Given the description of an element on the screen output the (x, y) to click on. 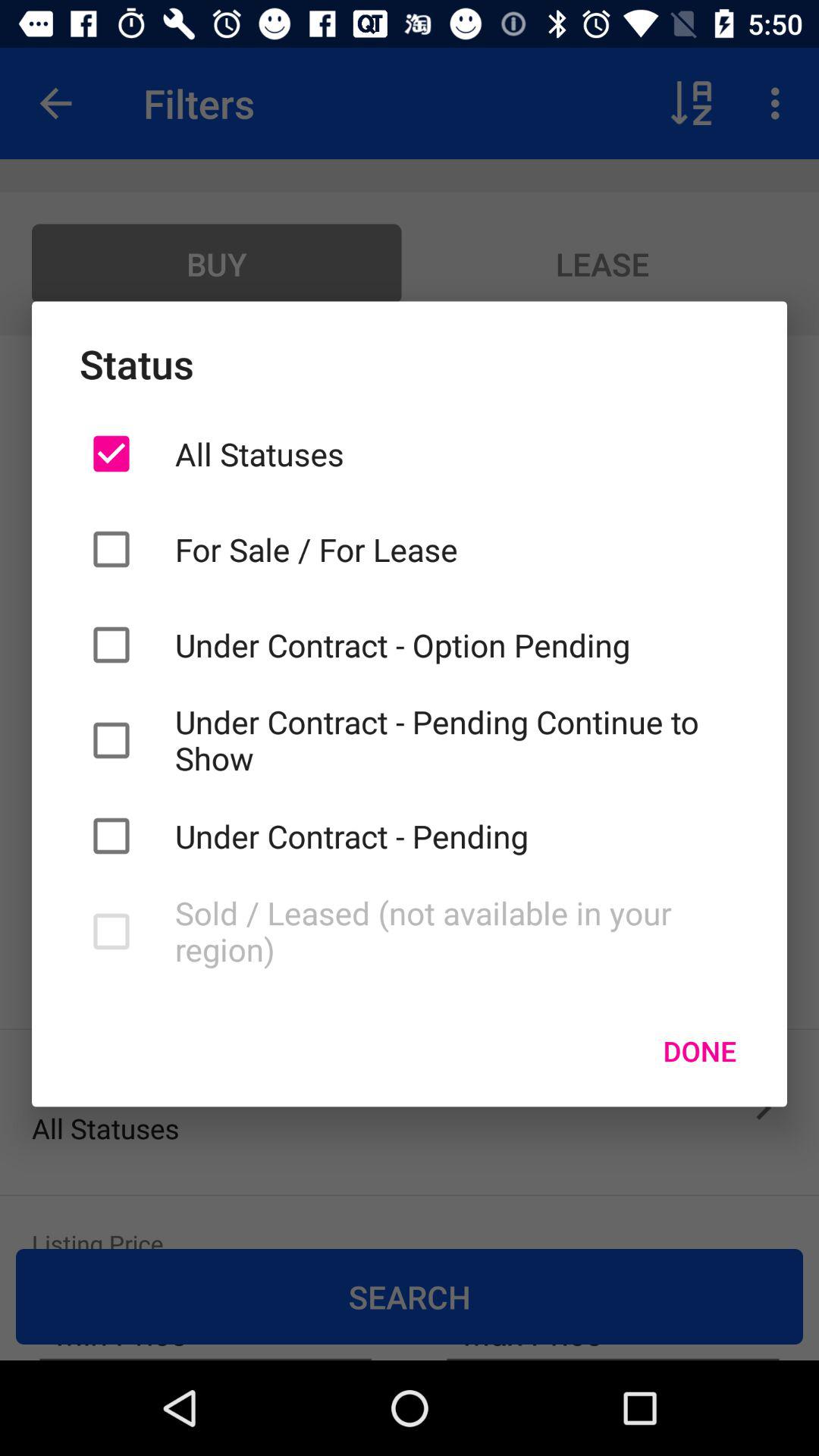
choose item below the all statuses item (457, 549)
